Given the description of an element on the screen output the (x, y) to click on. 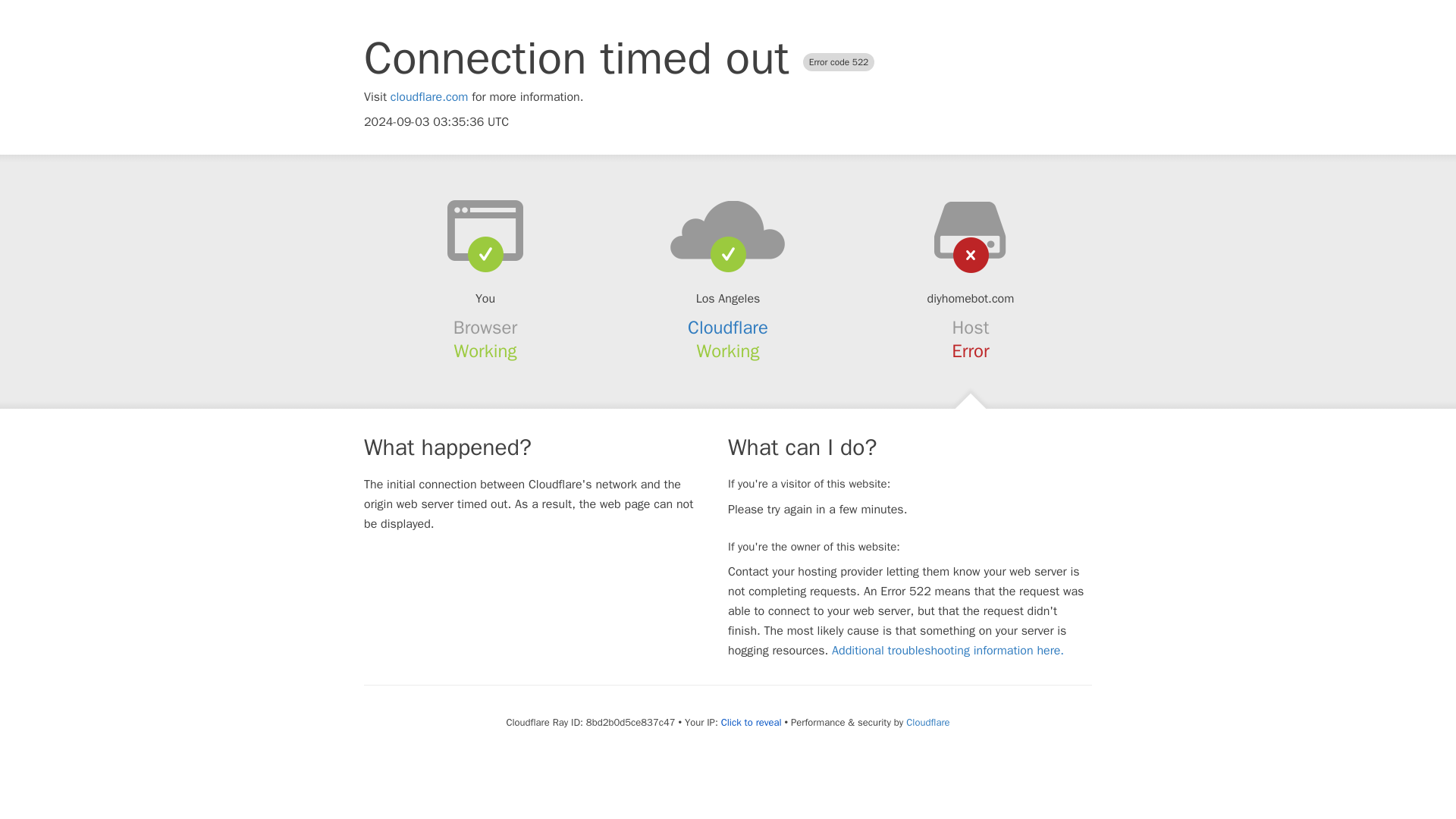
Click to reveal (750, 722)
Cloudflare (927, 721)
Additional troubleshooting information here. (947, 650)
cloudflare.com (429, 96)
Cloudflare (727, 327)
